Given the description of an element on the screen output the (x, y) to click on. 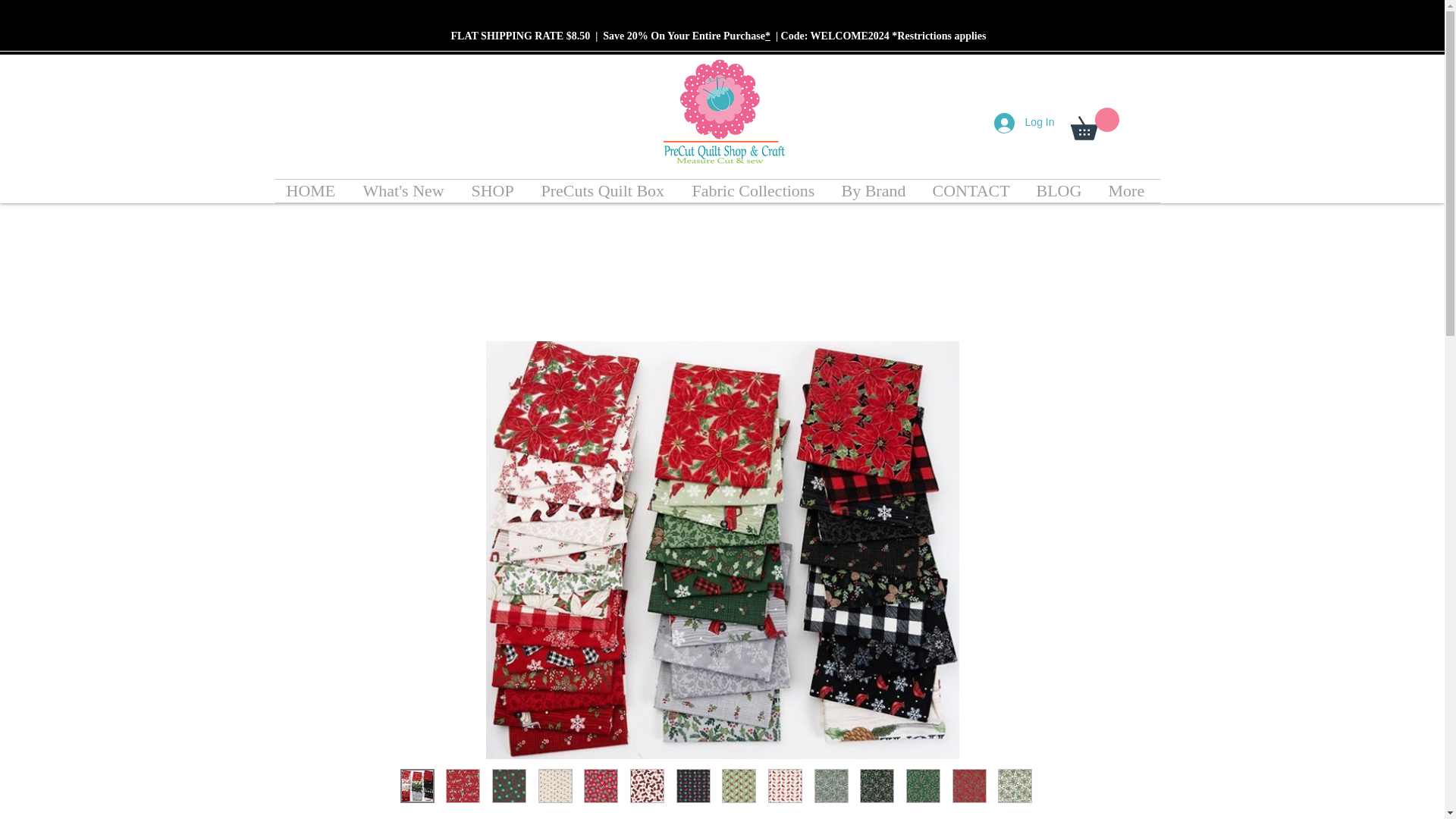
Log In (1024, 122)
What's New (406, 190)
PreCuts Quilt Box (604, 190)
Fabric Collections (755, 190)
By Brand (874, 190)
SHOP (494, 190)
HOME (312, 190)
